Given the description of an element on the screen output the (x, y) to click on. 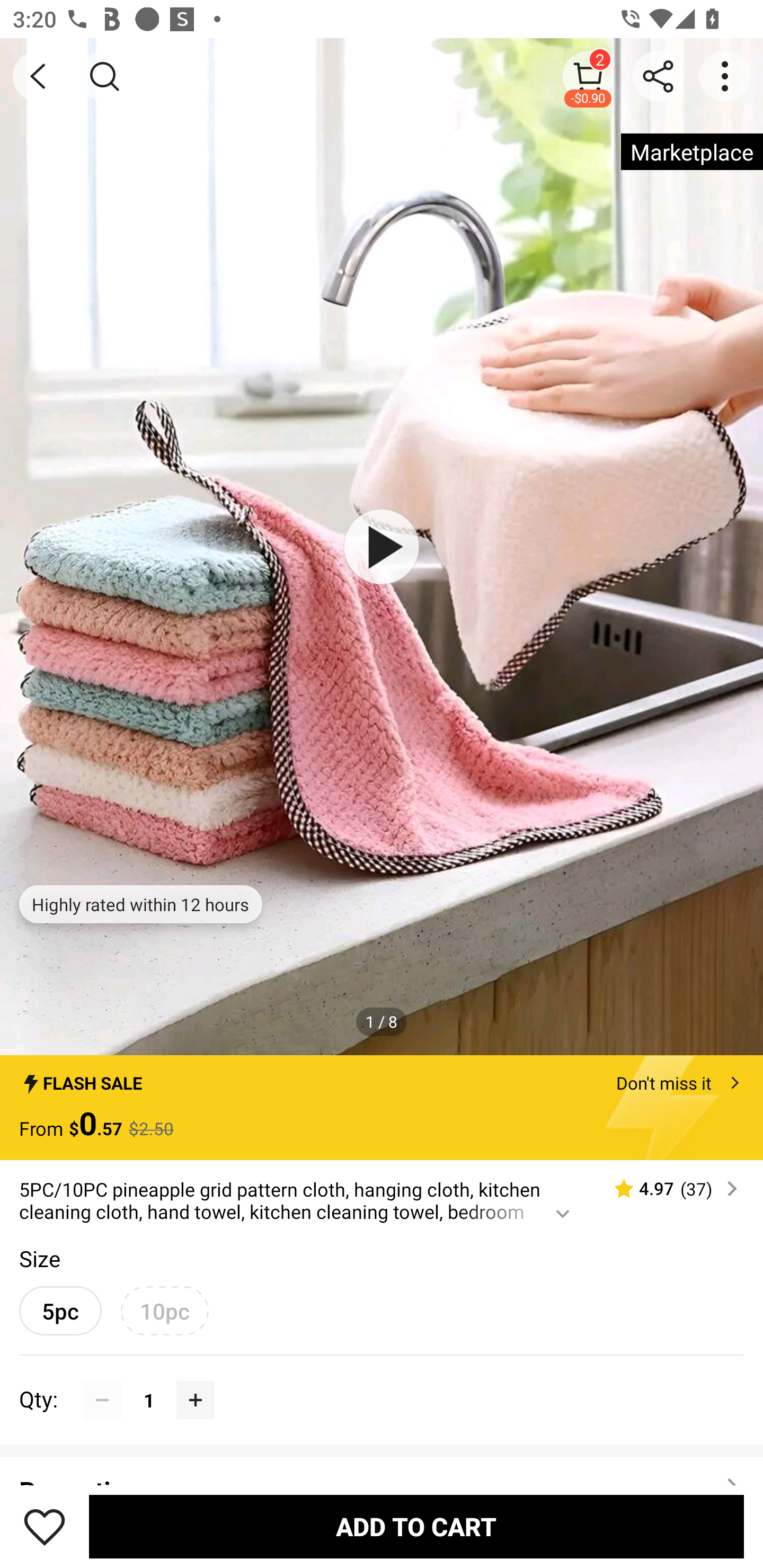
BACK (38, 75)
2 -$0.90 (588, 75)
1 / 8 (381, 1021)
FLASH SALE Don't miss it From  $0.57 $2.50 (381, 1107)
FLASH SALE Don't miss it (381, 1077)
4.97 (37) (667, 1188)
Size (39, 1258)
5pc 5pcunselected option (60, 1310)
10pc (164, 1310)
Qty: 1 (381, 1380)
ADD TO CART (416, 1526)
Save (44, 1526)
